Given the description of an element on the screen output the (x, y) to click on. 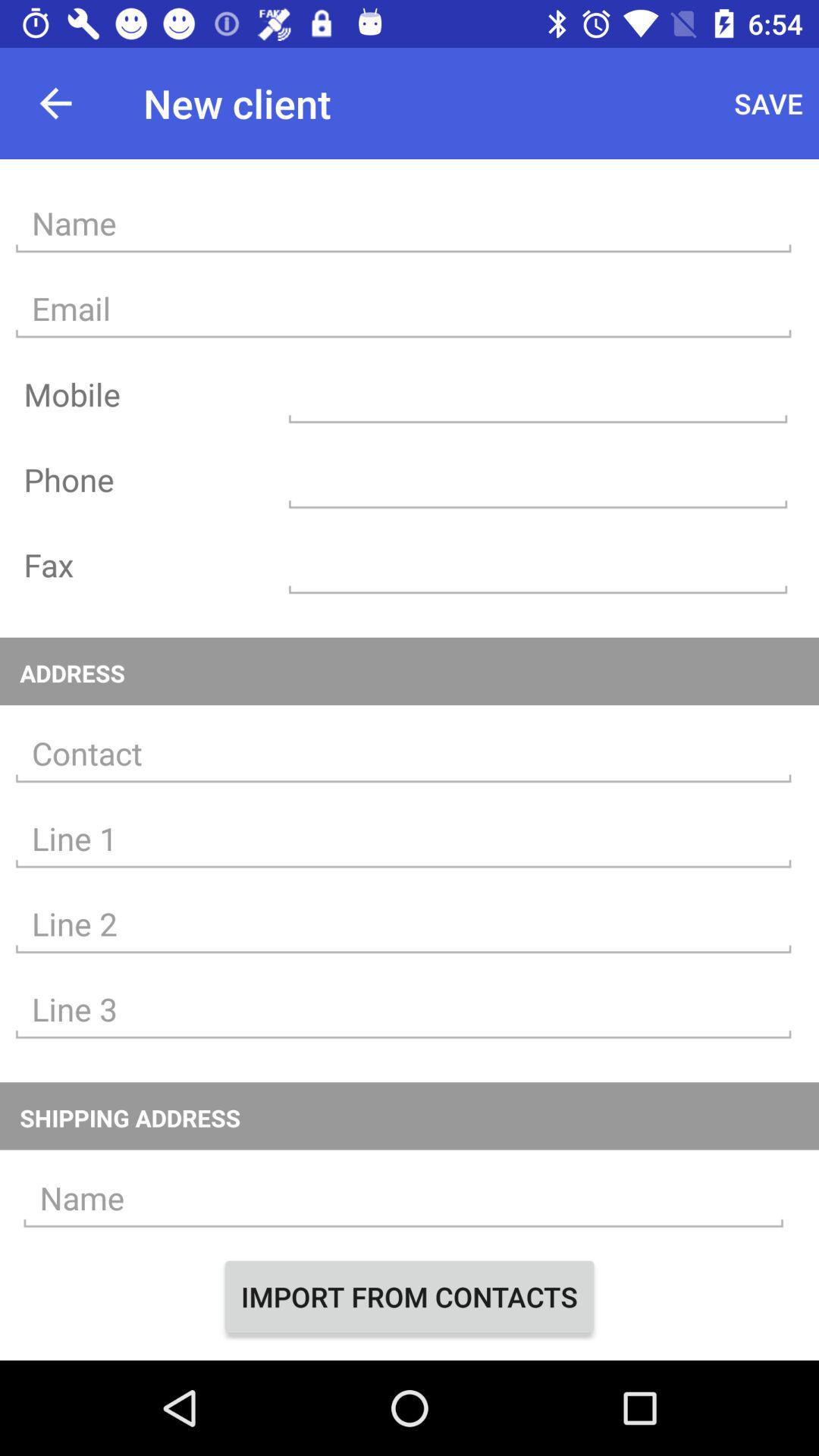
tap the item to the right of the new client icon (768, 103)
